Given the description of an element on the screen output the (x, y) to click on. 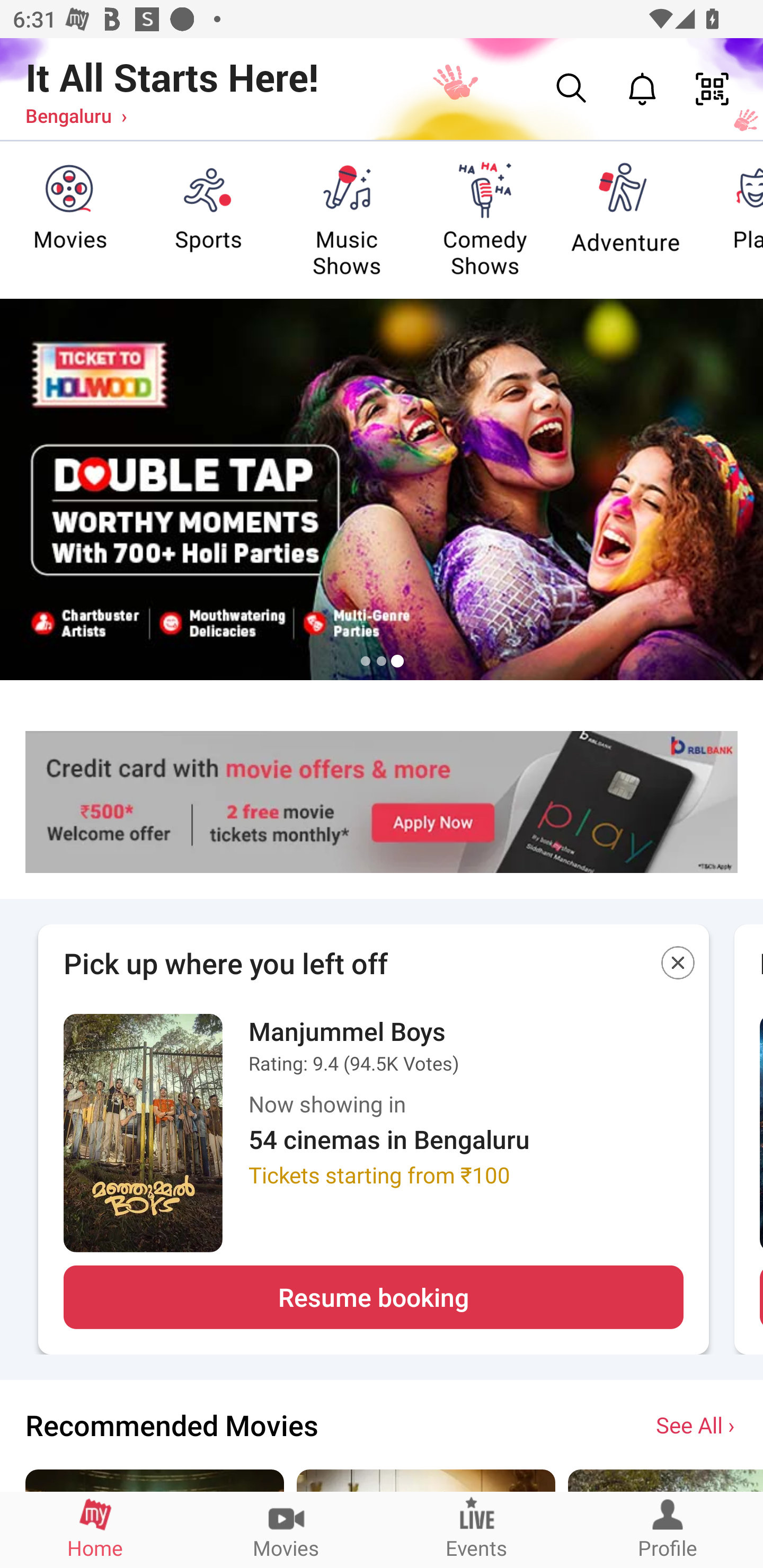
Bengaluru  › (76, 114)
  (678, 966)
Resume booking (373, 1297)
See All › (696, 1424)
Home (95, 1529)
Movies (285, 1529)
Events (476, 1529)
Profile (667, 1529)
